Given the description of an element on the screen output the (x, y) to click on. 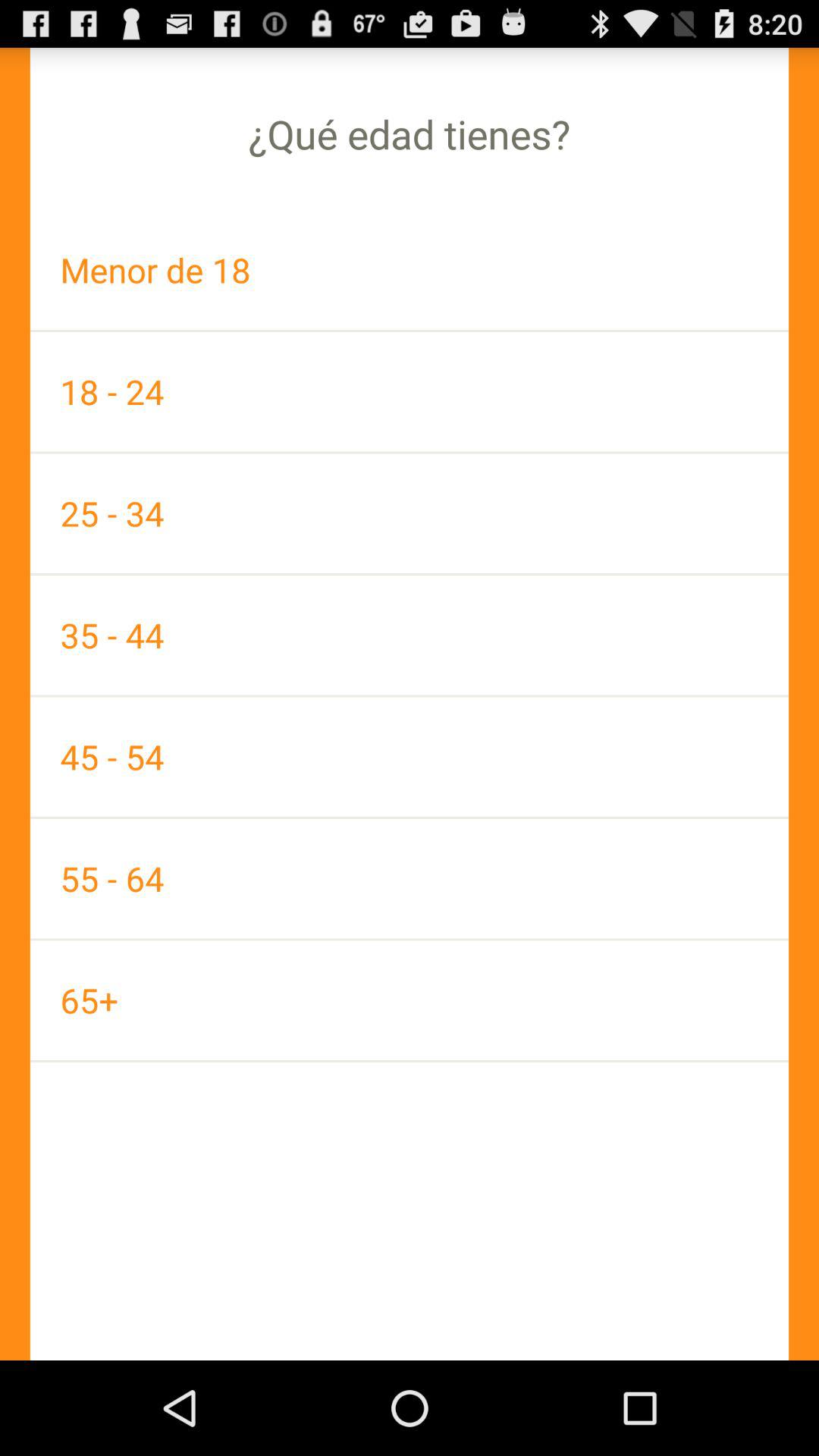
turn off menor de 18 item (409, 269)
